Given the description of an element on the screen output the (x, y) to click on. 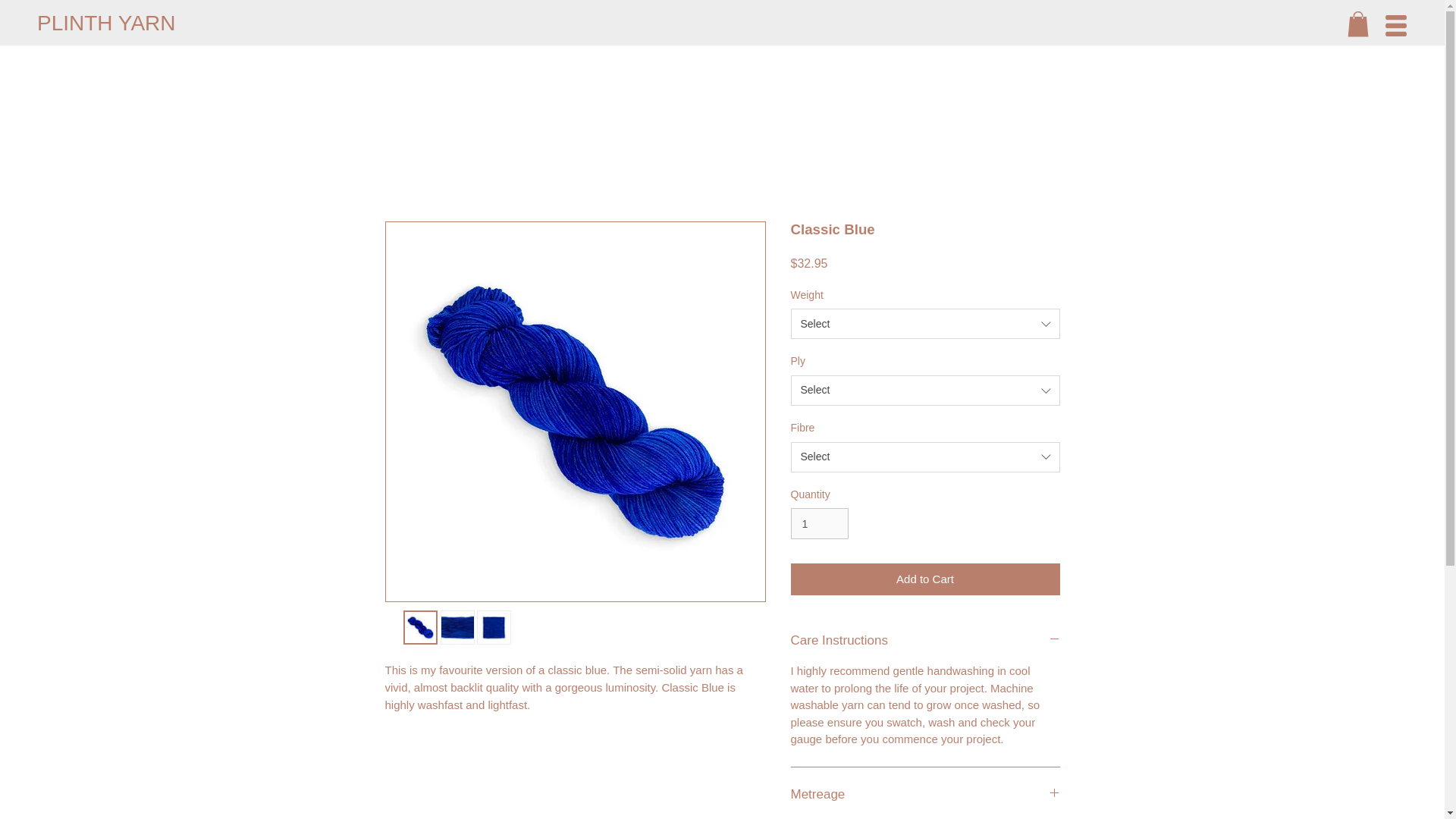
Select (924, 390)
1 (818, 522)
PLINTH YARN (106, 23)
Select (924, 457)
Select (924, 323)
Metreage (924, 794)
Add to Cart (924, 579)
Care Instructions (924, 640)
